Given the description of an element on the screen output the (x, y) to click on. 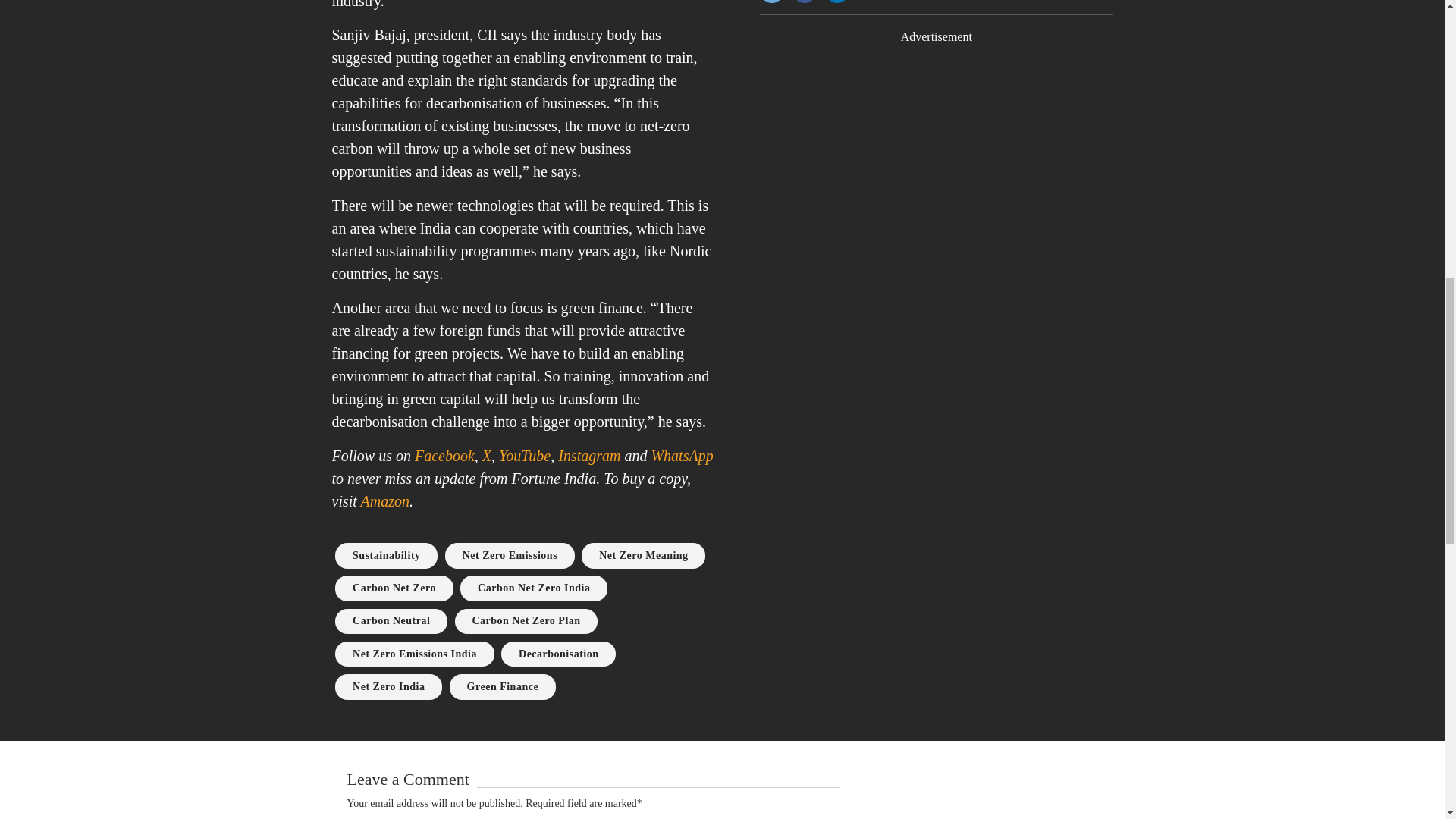
Linkedin (836, 1)
Twitter (772, 1)
Facebook (804, 1)
